Given the description of an element on the screen output the (x, y) to click on. 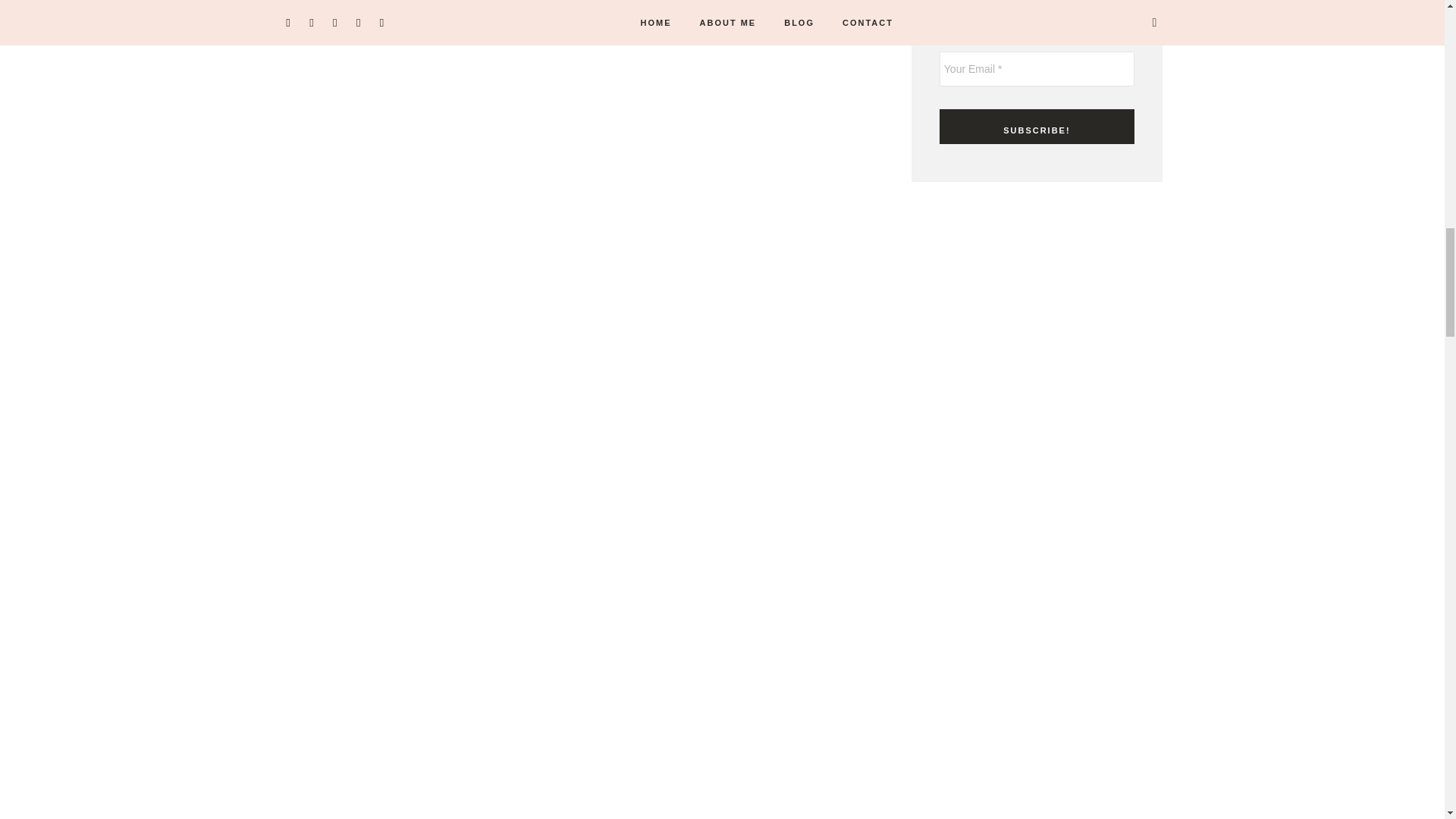
Subscribe! (1036, 126)
